Given the description of an element on the screen output the (x, y) to click on. 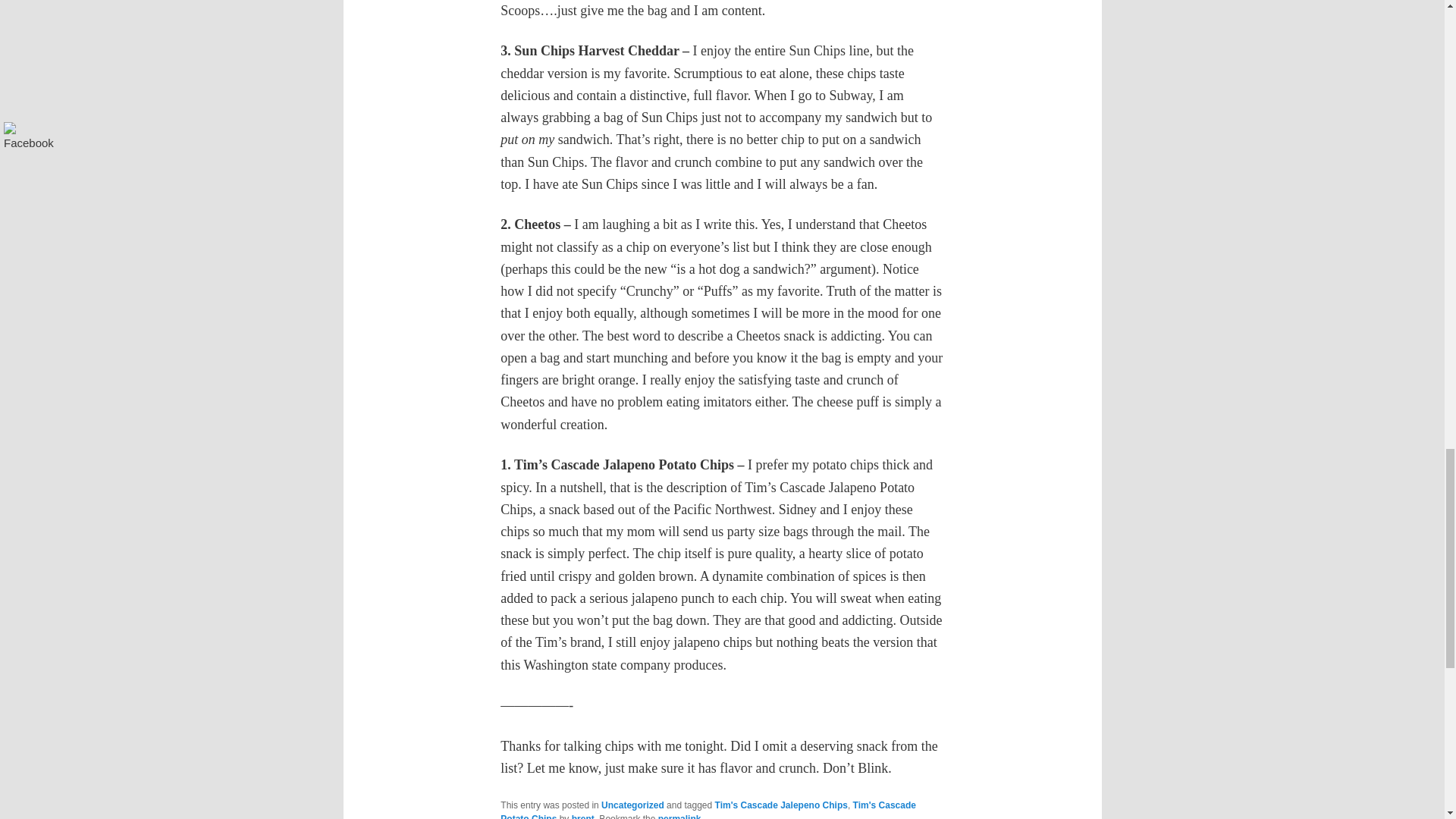
Uncategorized (632, 805)
brent (583, 816)
Tim's Cascade Potato Chips (707, 809)
Tim's Cascade Jalepeno Chips (780, 805)
Permalink to My Top 5 Favorite Chips (679, 816)
permalink (679, 816)
